Given the description of an element on the screen output the (x, y) to click on. 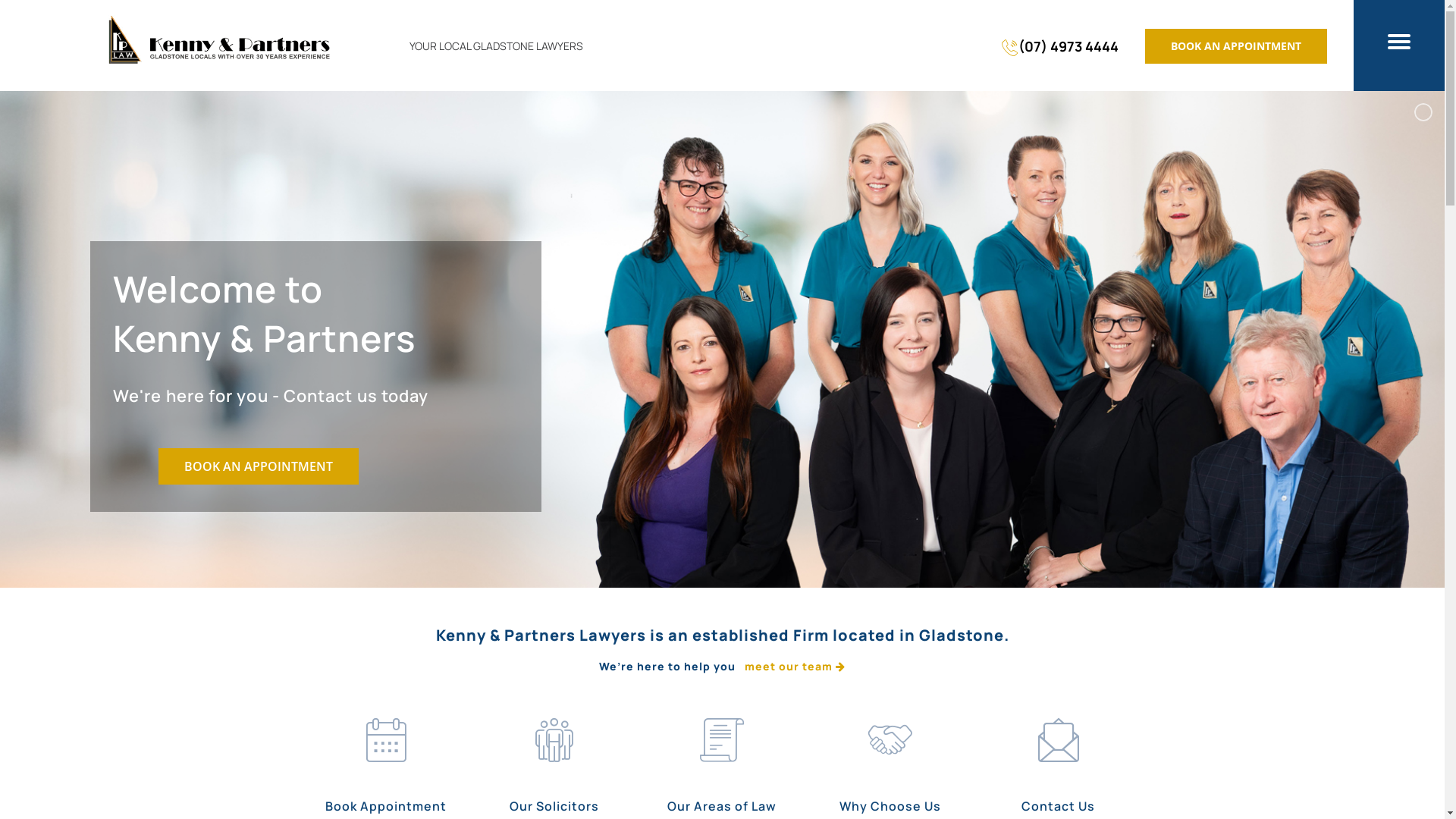
meet our team Element type: text (794, 665)
BOOK AN APPOINTMENT Element type: text (257, 466)
(07) 4973 4444 Element type: text (1059, 46)
BOOK AN APPOINTMENT Element type: text (1236, 45)
